Given the description of an element on the screen output the (x, y) to click on. 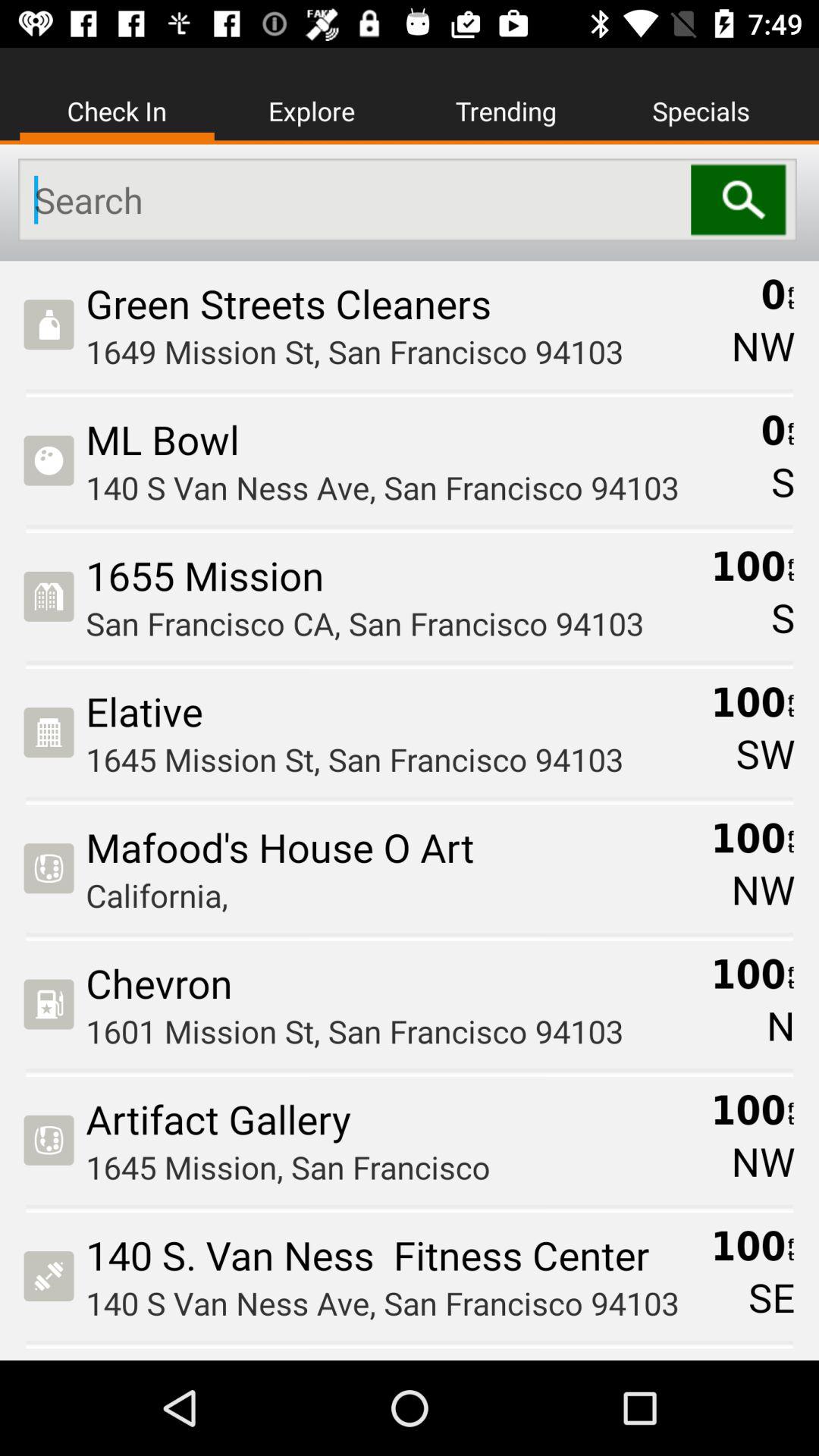
press the item below chevron (392, 1030)
